Given the description of an element on the screen output the (x, y) to click on. 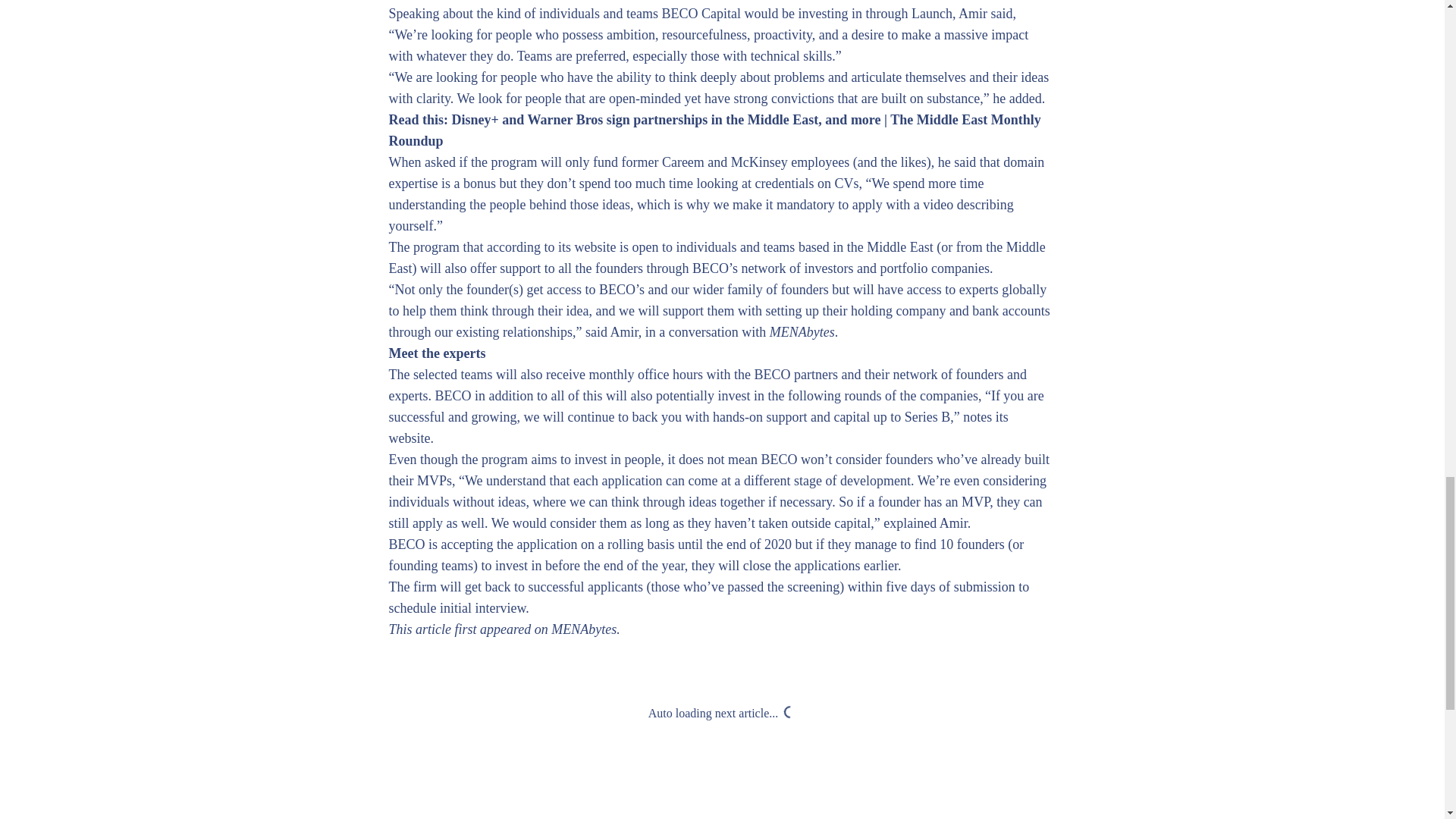
MENAbytes (583, 629)
